Given the description of an element on the screen output the (x, y) to click on. 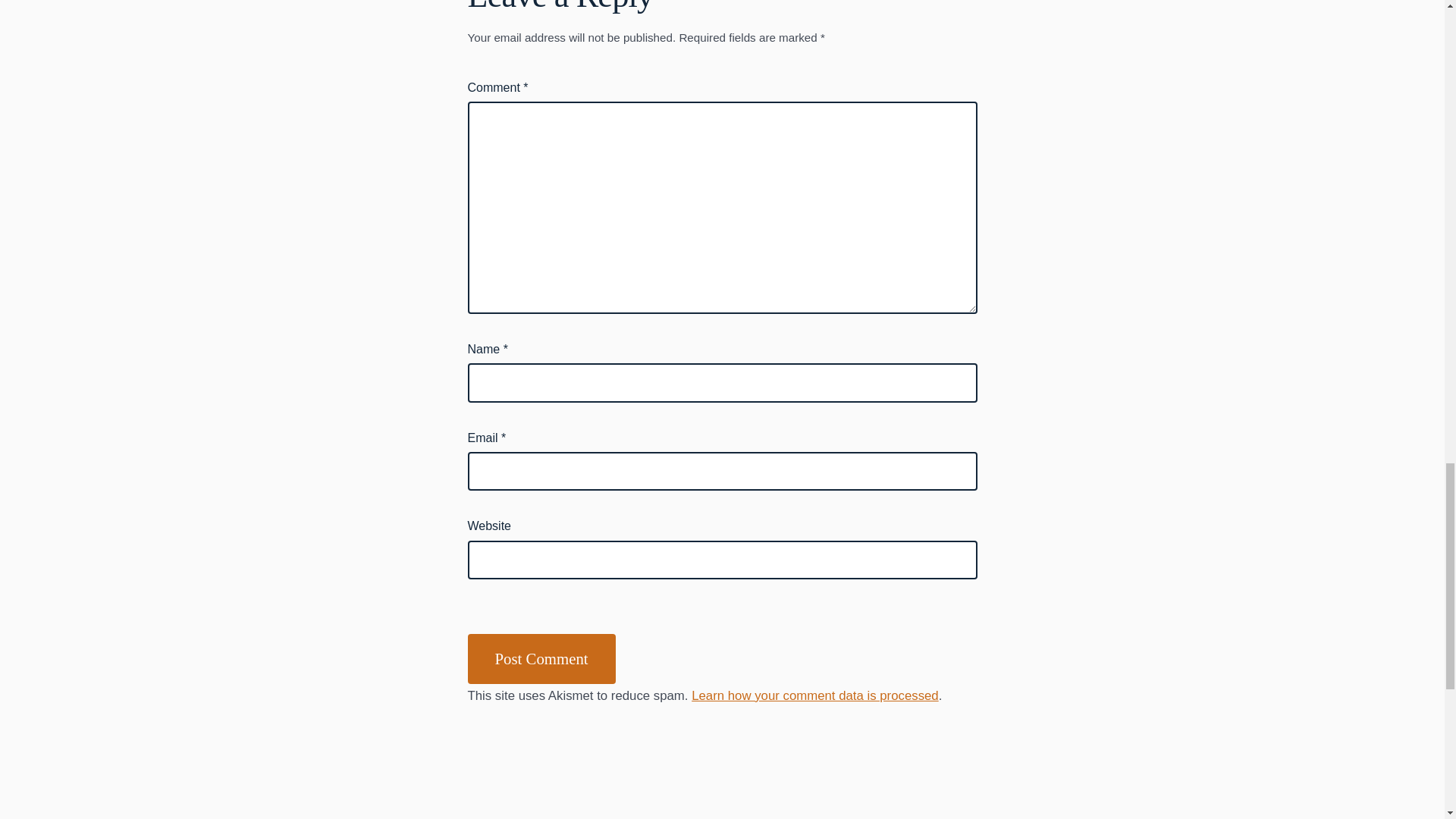
Post Comment (540, 658)
